Given the description of an element on the screen output the (x, y) to click on. 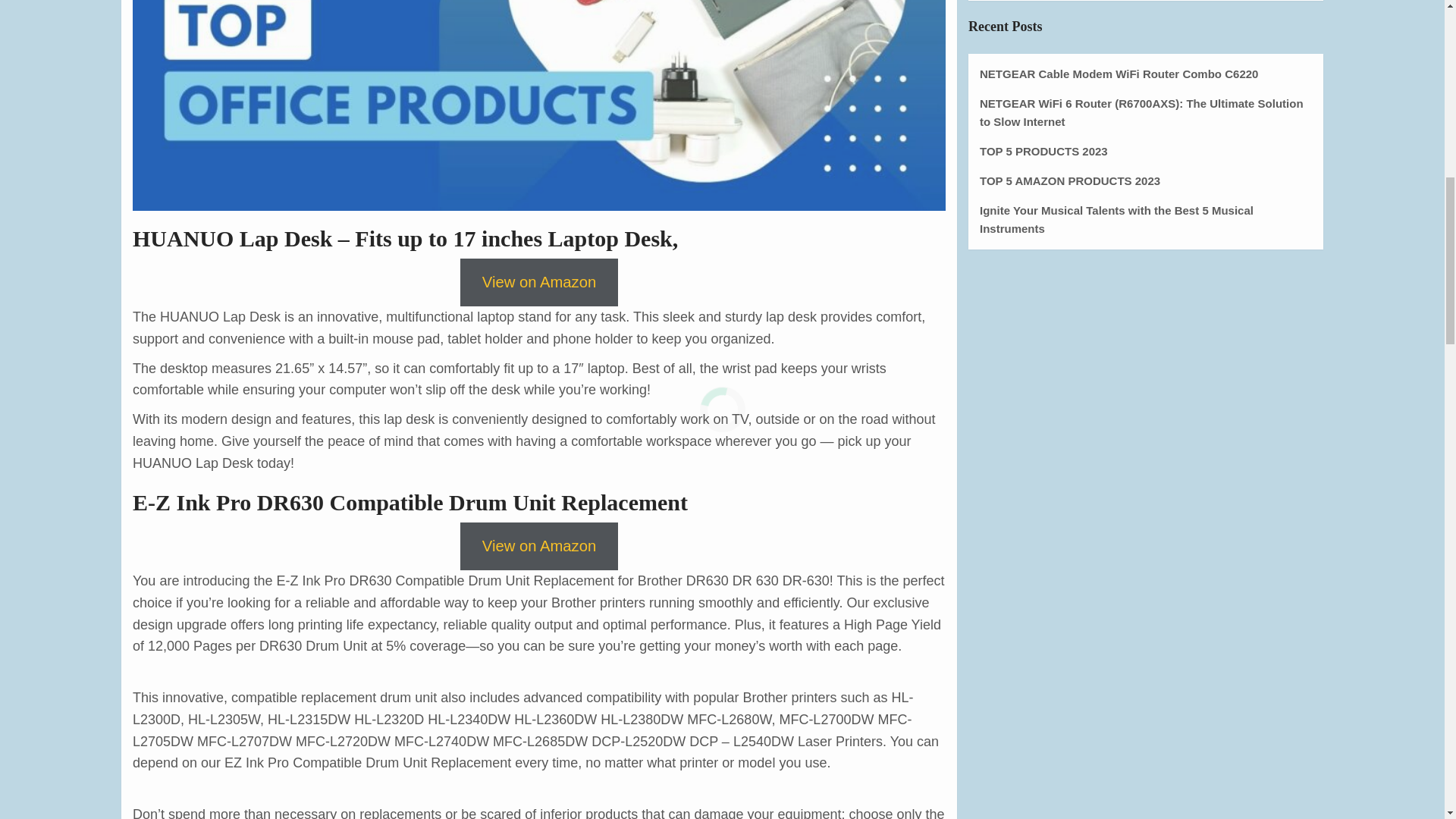
View on Amazon (538, 546)
View on Amazon (538, 282)
